Given the description of an element on the screen output the (x, y) to click on. 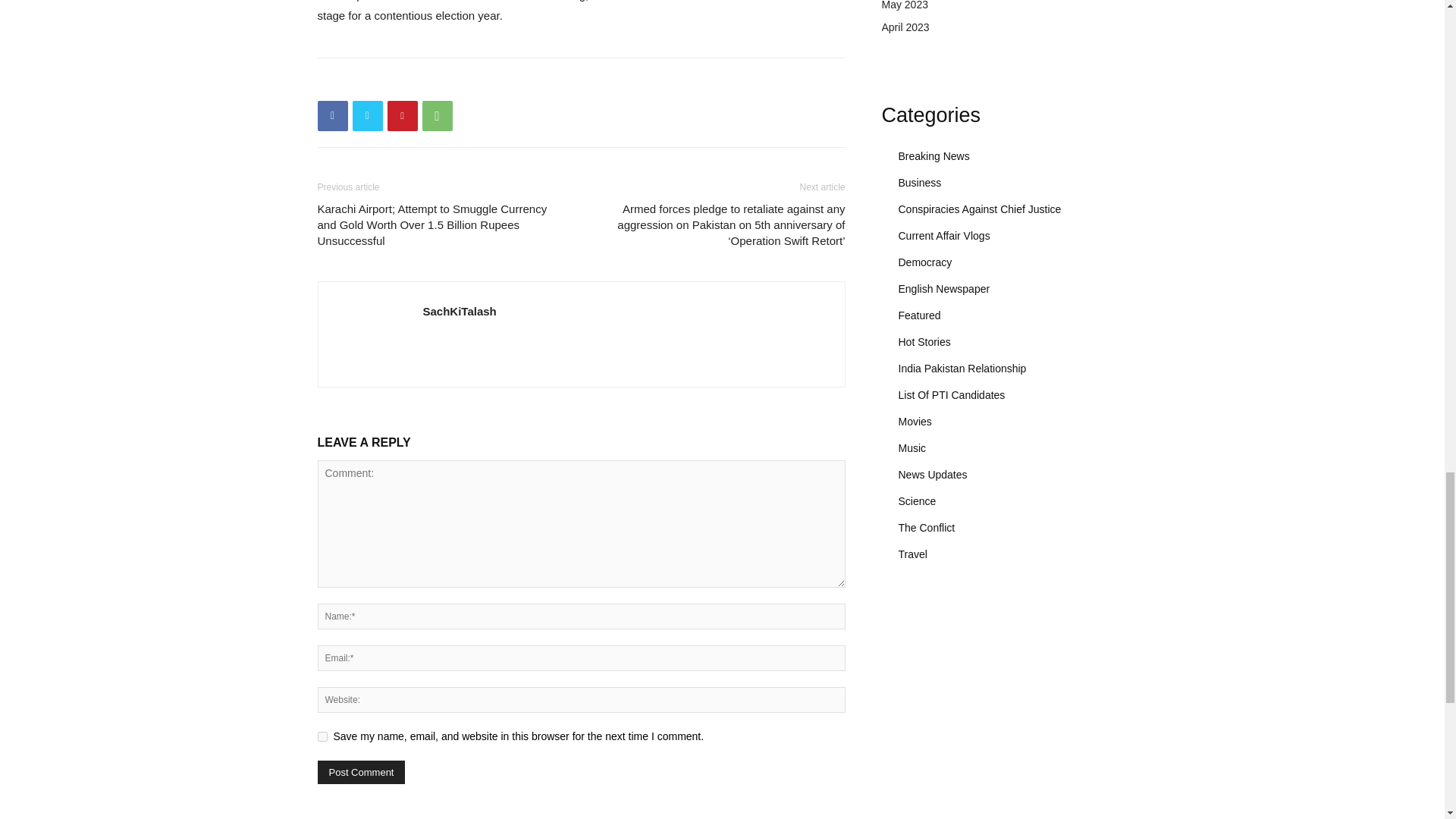
Post Comment (360, 771)
yes (321, 737)
